Given the description of an element on the screen output the (x, y) to click on. 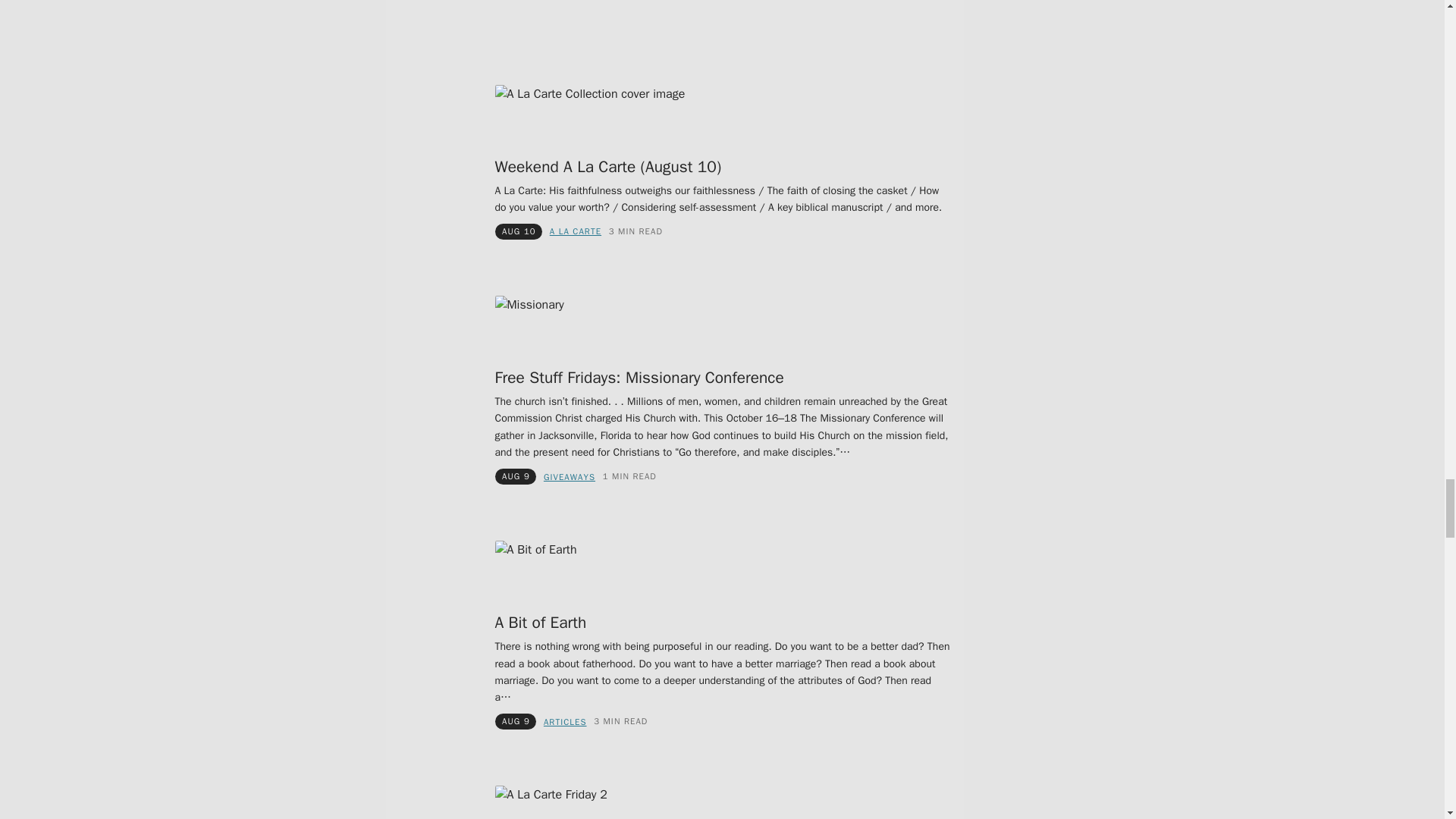
167 words (629, 476)
Aug 10, 2024 at 12:01 am (518, 231)
381 words (635, 231)
Aug 9, 2024 at 12:01 pm (515, 475)
